Given the description of an element on the screen output the (x, y) to click on. 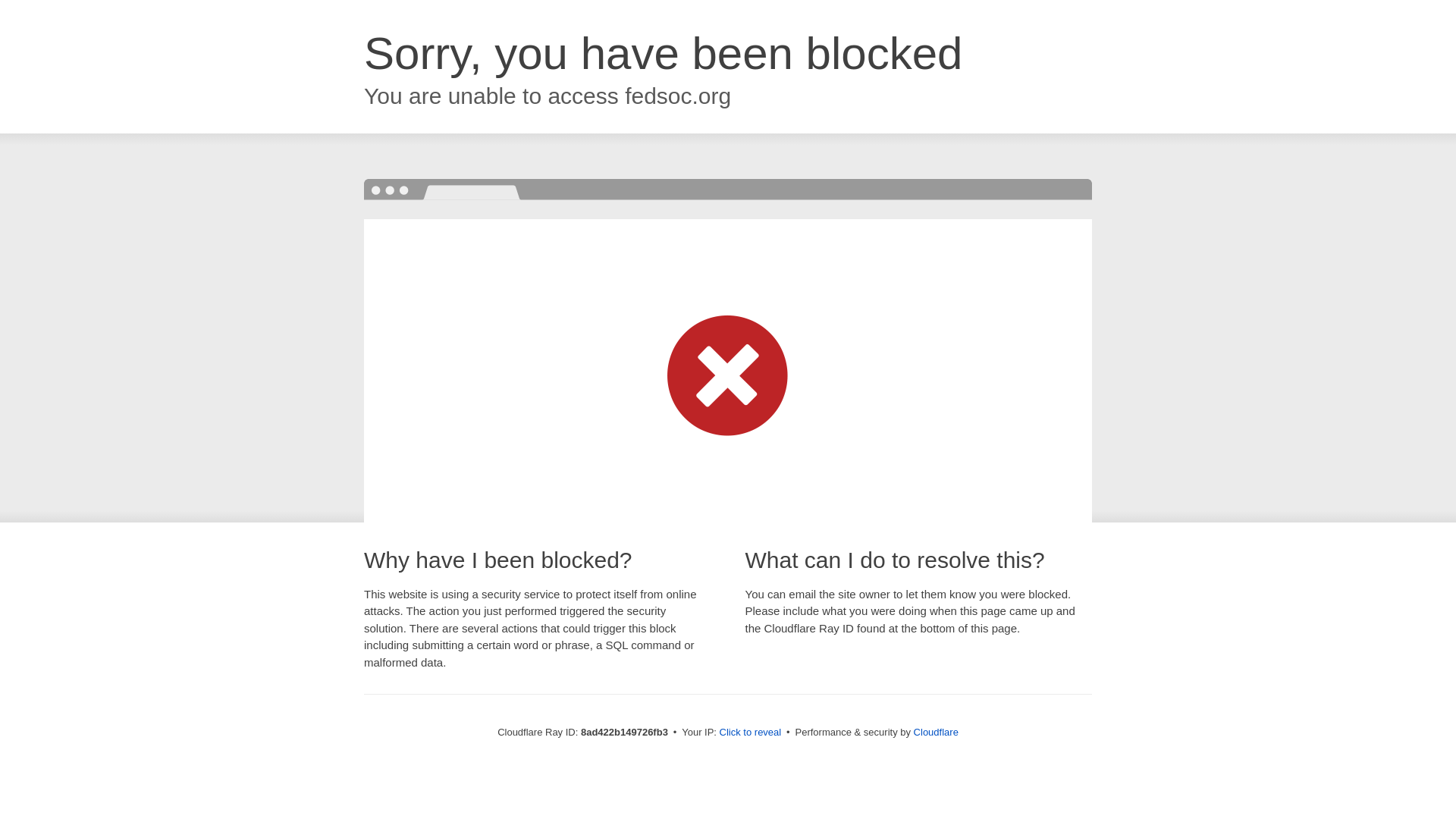
Click to reveal (750, 732)
Cloudflare (936, 731)
